Given the description of an element on the screen output the (x, y) to click on. 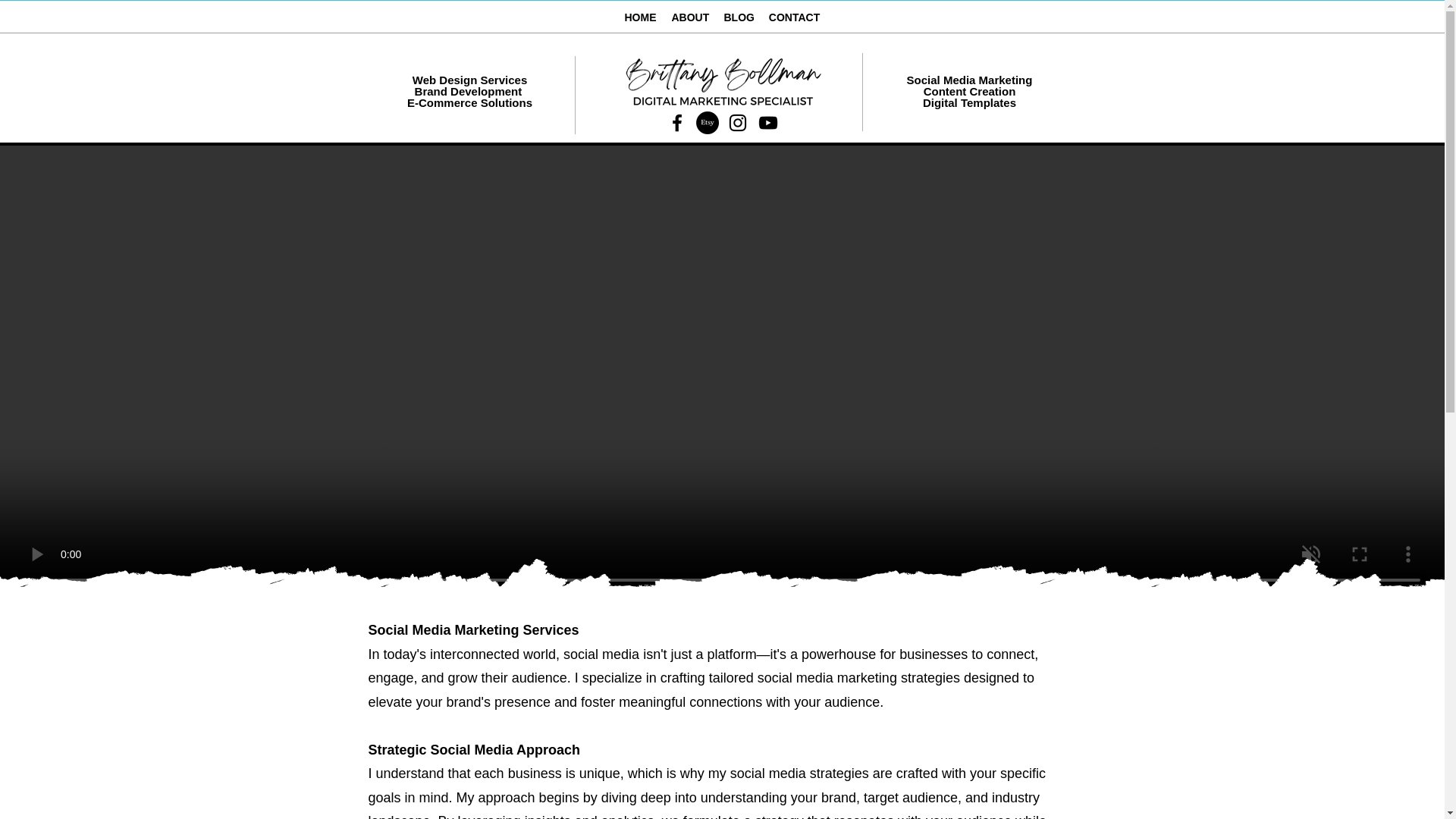
HOME (640, 17)
CONTACT (794, 17)
ABOUT (689, 17)
BLOG (738, 17)
